Given the description of an element on the screen output the (x, y) to click on. 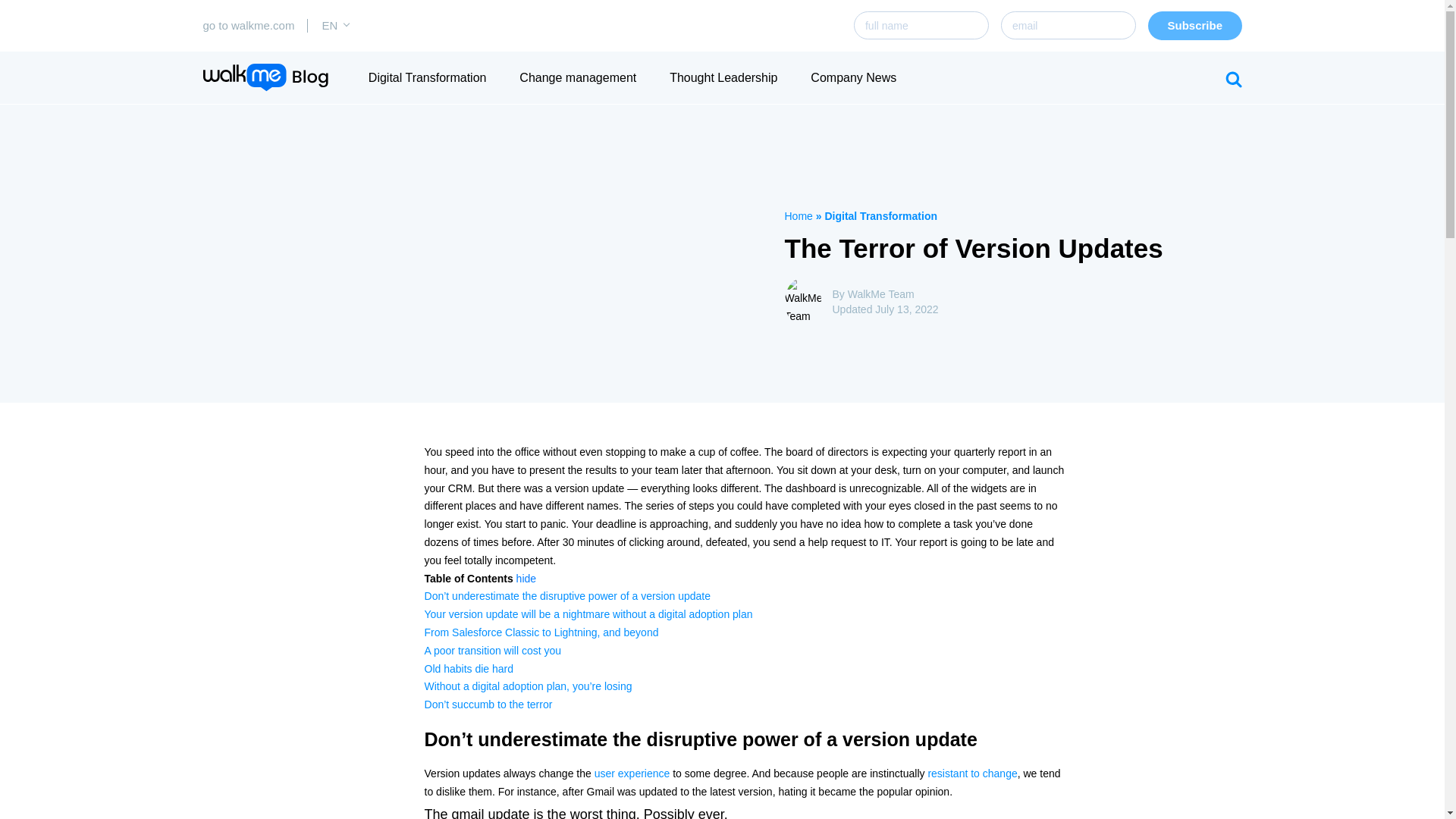
Digital Transformation (880, 215)
WalkMe Blog (266, 77)
resistant to change (971, 773)
From Salesforce Classic to Lightning, and beyond (542, 632)
Subscribe (1194, 25)
Change management (577, 77)
Thought Leadership (723, 77)
go to walkme.com (249, 24)
hide (525, 578)
user experience (631, 773)
Digital Transformation (427, 77)
Home (798, 215)
A poor transition will cost you (493, 650)
Company News (853, 77)
